Given the description of an element on the screen output the (x, y) to click on. 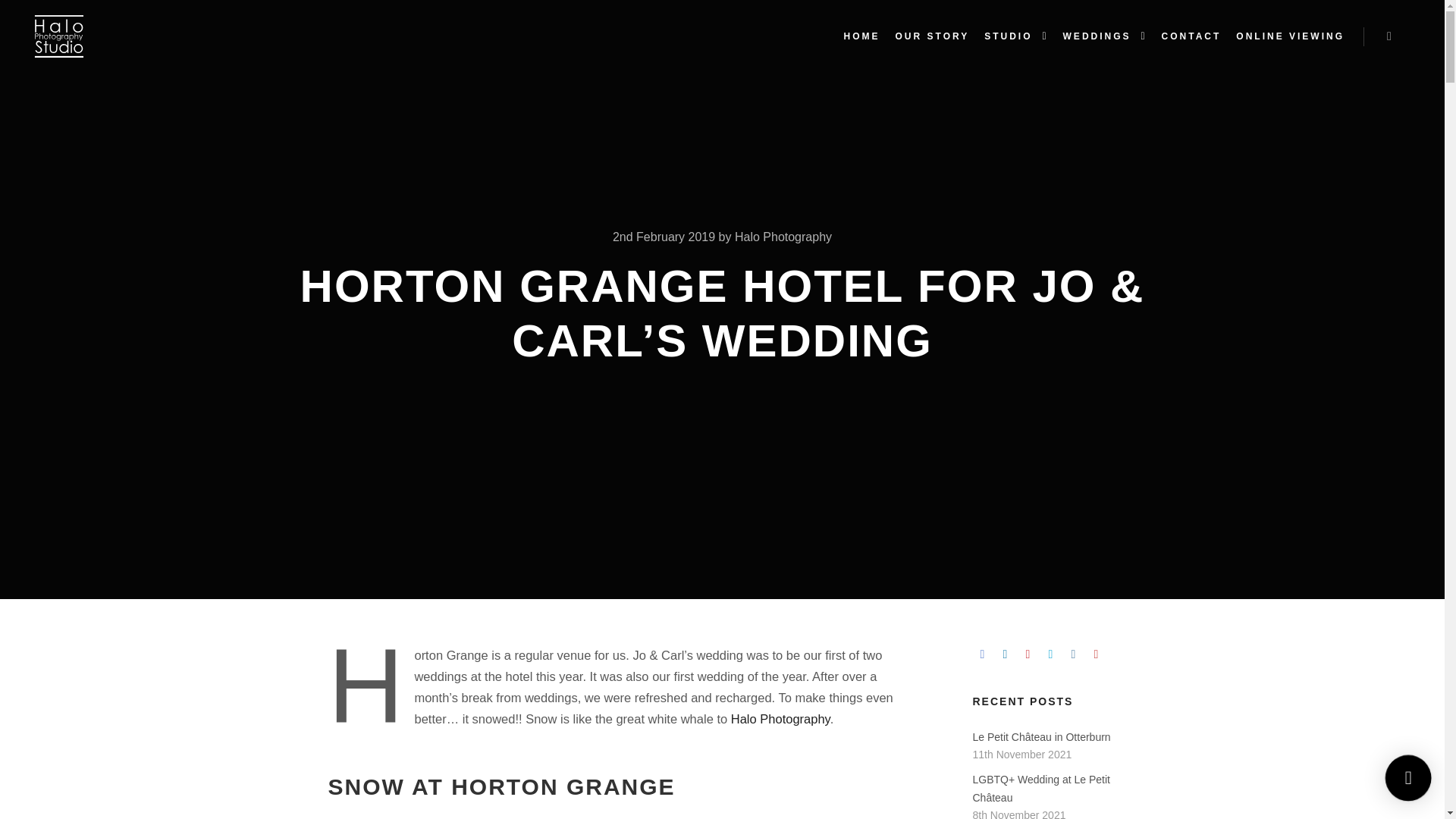
Pinterest (1026, 654)
Halo Photography (779, 718)
CONTACT (1191, 36)
YouTube (1095, 654)
OUR STORY (932, 36)
More info (1389, 35)
View all posts by Halo Photography (783, 236)
Twitter (1050, 654)
Halo Photography (783, 236)
Facebook (981, 654)
More info (1389, 35)
ONLINE VIEWING (1290, 36)
Instagram (1072, 654)
Linkedin (1004, 654)
